Given the description of an element on the screen output the (x, y) to click on. 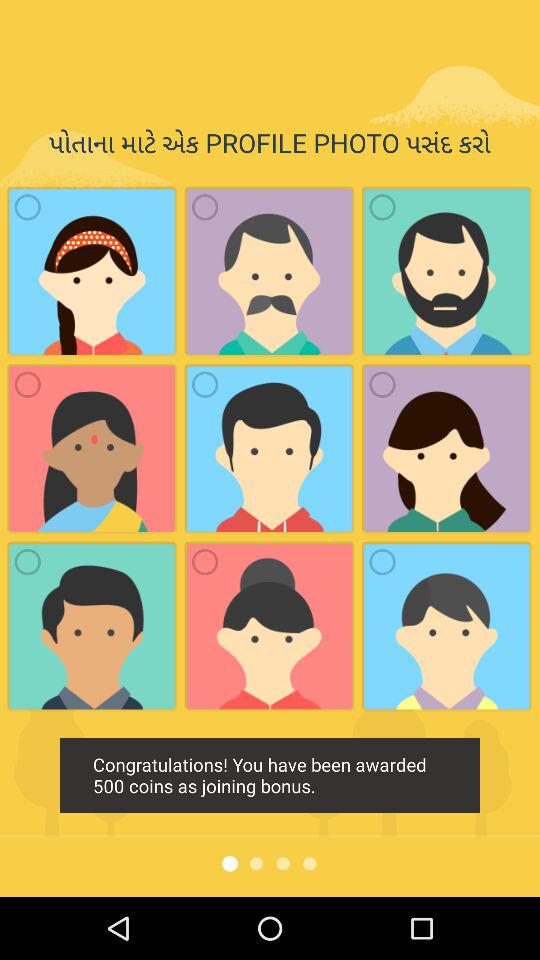
select the fifth image of the page (269, 448)
click on the 2nd image from the left in the 2nd row (204, 384)
click on select button in third image from second row (382, 384)
select the radio button of last but one image (204, 561)
click on the circle in the third row first image (27, 561)
click the image in first row 3rd image at top right corner (446, 272)
click the second image in the third row from the top (269, 627)
click the image in the 3rd row 3rd image at right corner (446, 627)
